Given the description of an element on the screen output the (x, y) to click on. 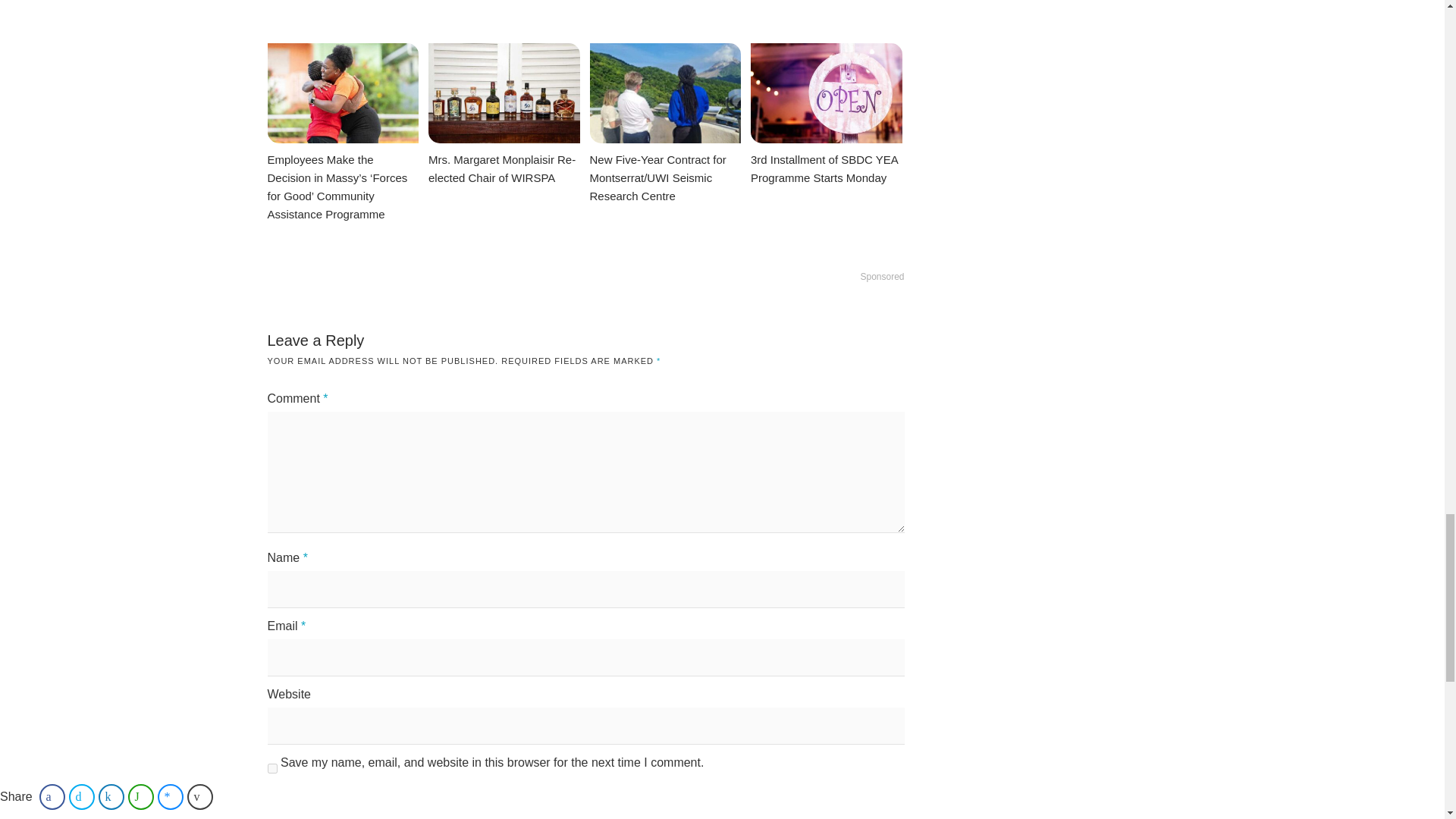
Post Comment (323, 807)
yes (271, 768)
